Given the description of an element on the screen output the (x, y) to click on. 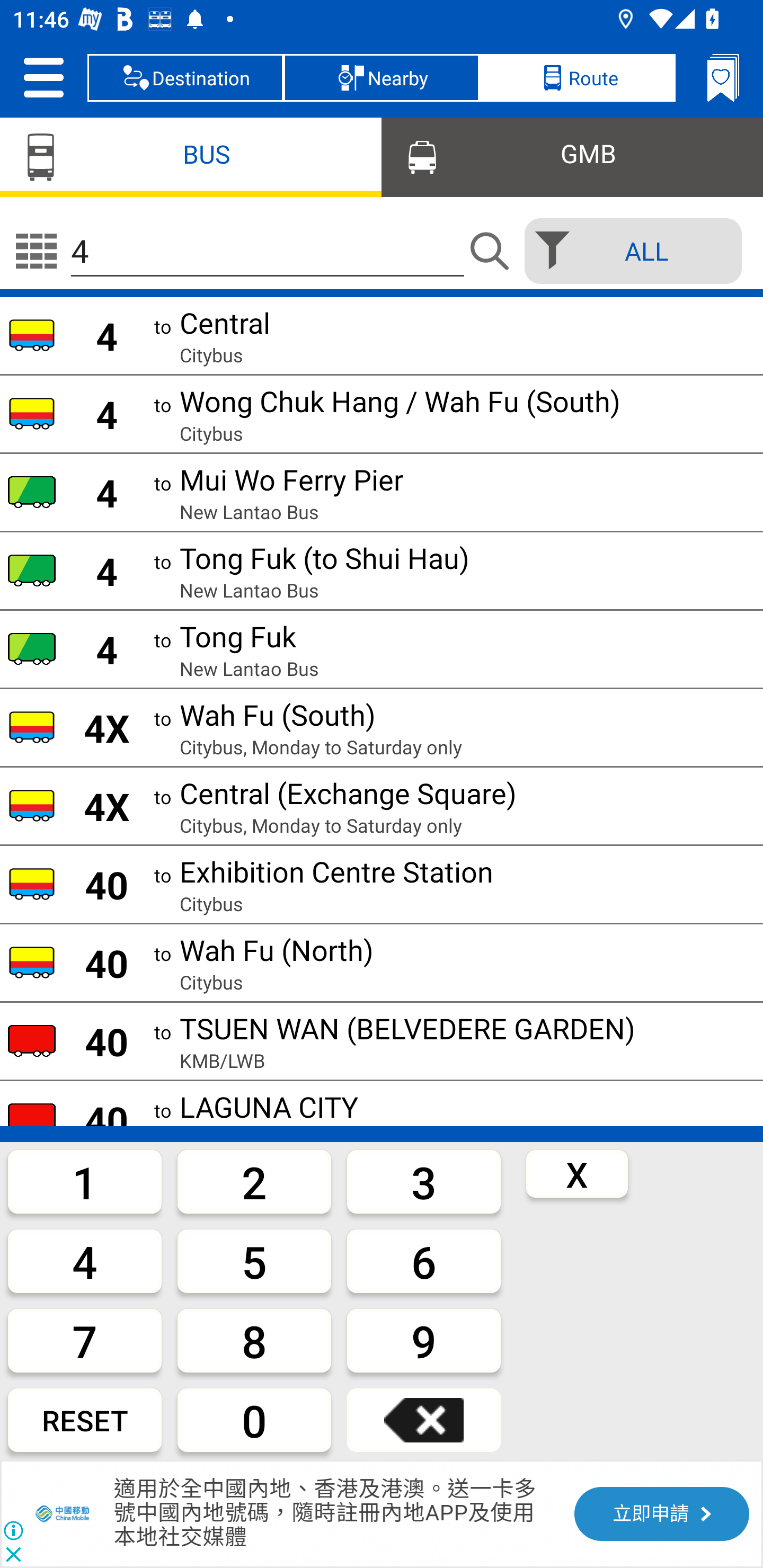
Destination (185, 77)
Nearby (381, 77)
Route, selected (577, 77)
Bookmarks (723, 77)
Setting (43, 77)
BUS, selected (190, 155)
GMB (572, 155)
selected ALL (627, 250)
no (36, 250)
1 (84, 1181)
2 (254, 1181)
3 (423, 1181)
X (576, 1173)
4 (84, 1261)
5 (254, 1261)
6 (423, 1261)
7 (84, 1340)
8 (254, 1340)
9 (423, 1340)
RESET (84, 1419)
0 (254, 1419)
CMHK 5G大灣區服務計劃 (63, 1513)
立即申請 (661, 1513)
